Given the description of an element on the screen output the (x, y) to click on. 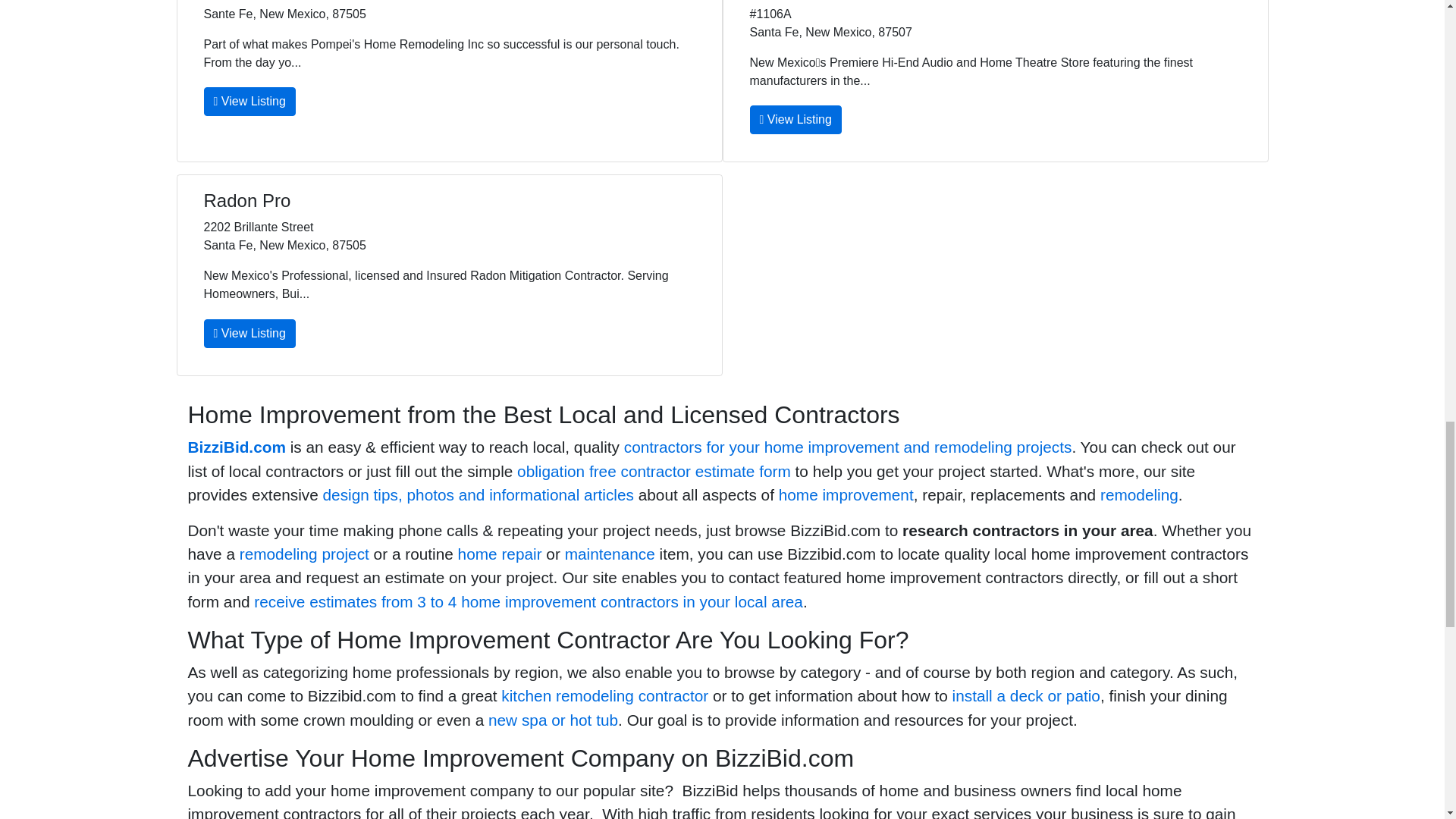
home improvement articles (478, 494)
